Given the description of an element on the screen output the (x, y) to click on. 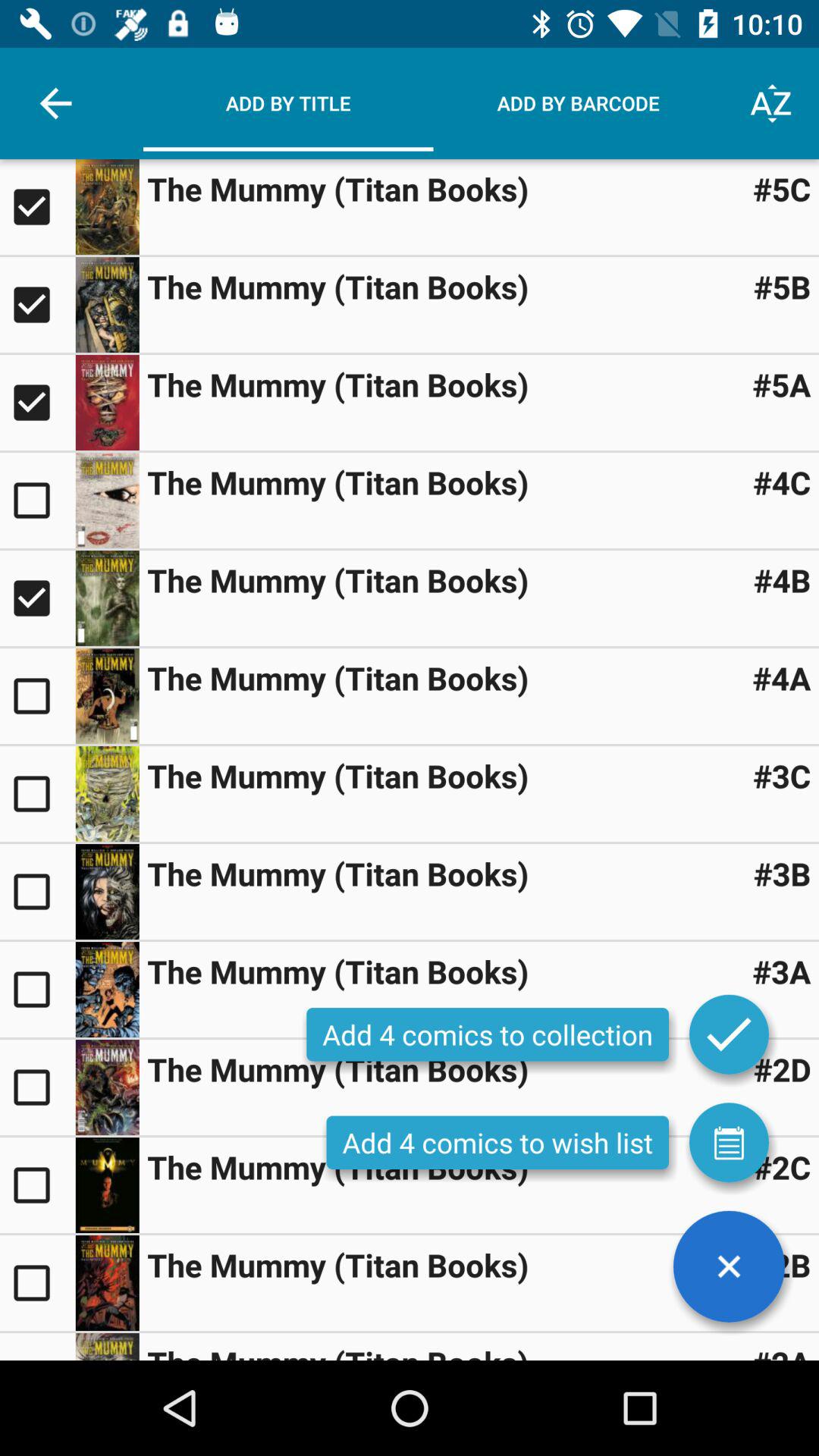
uncheck box (37, 304)
